Given the description of an element on the screen output the (x, y) to click on. 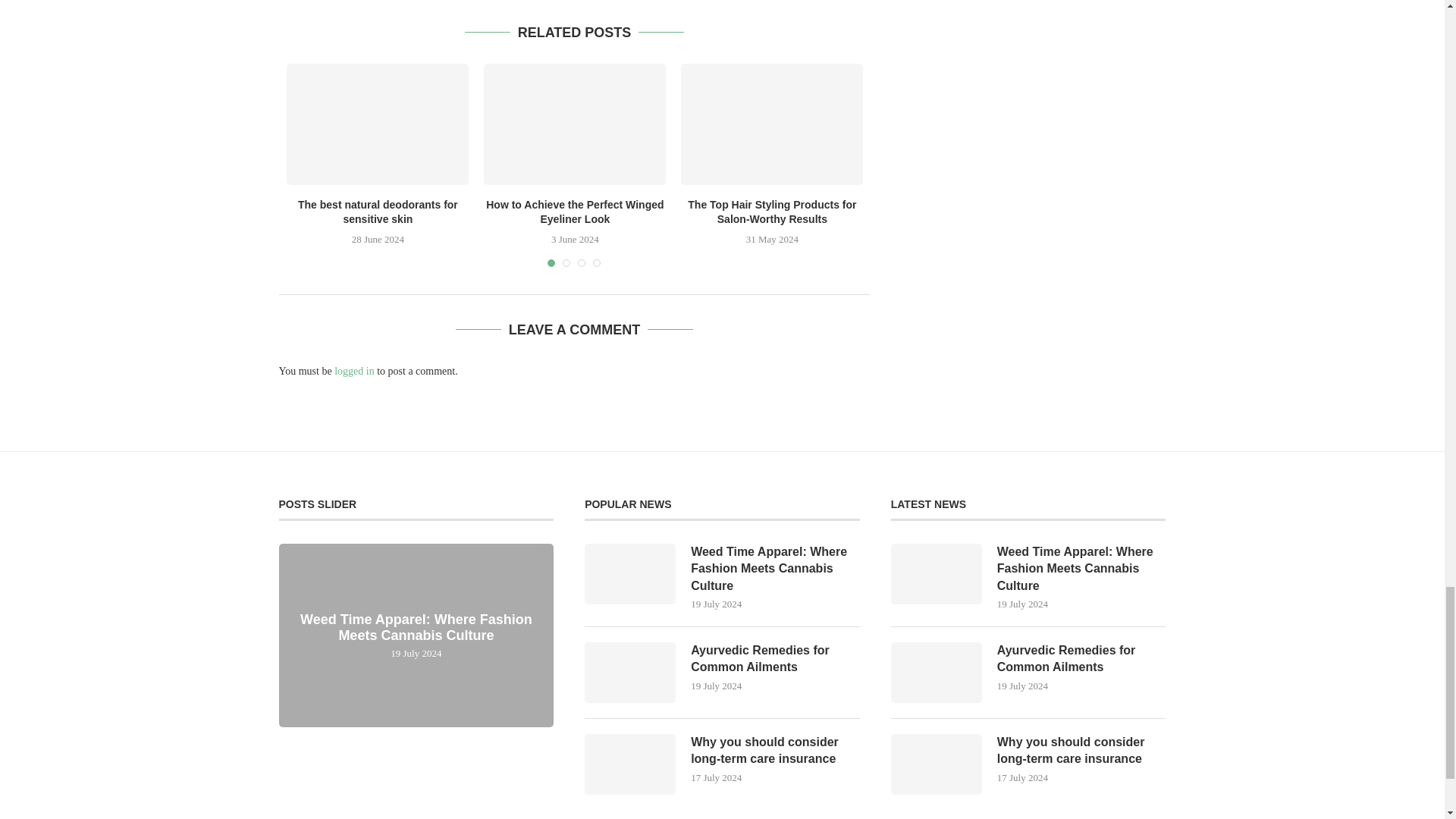
The Top Hair Styling Products for Salon-Worthy Results (772, 124)
The best natural deodorants for sensitive skin (377, 124)
How to Achieve the Perfect Winged Eyeliner Look (574, 124)
